Given the description of an element on the screen output the (x, y) to click on. 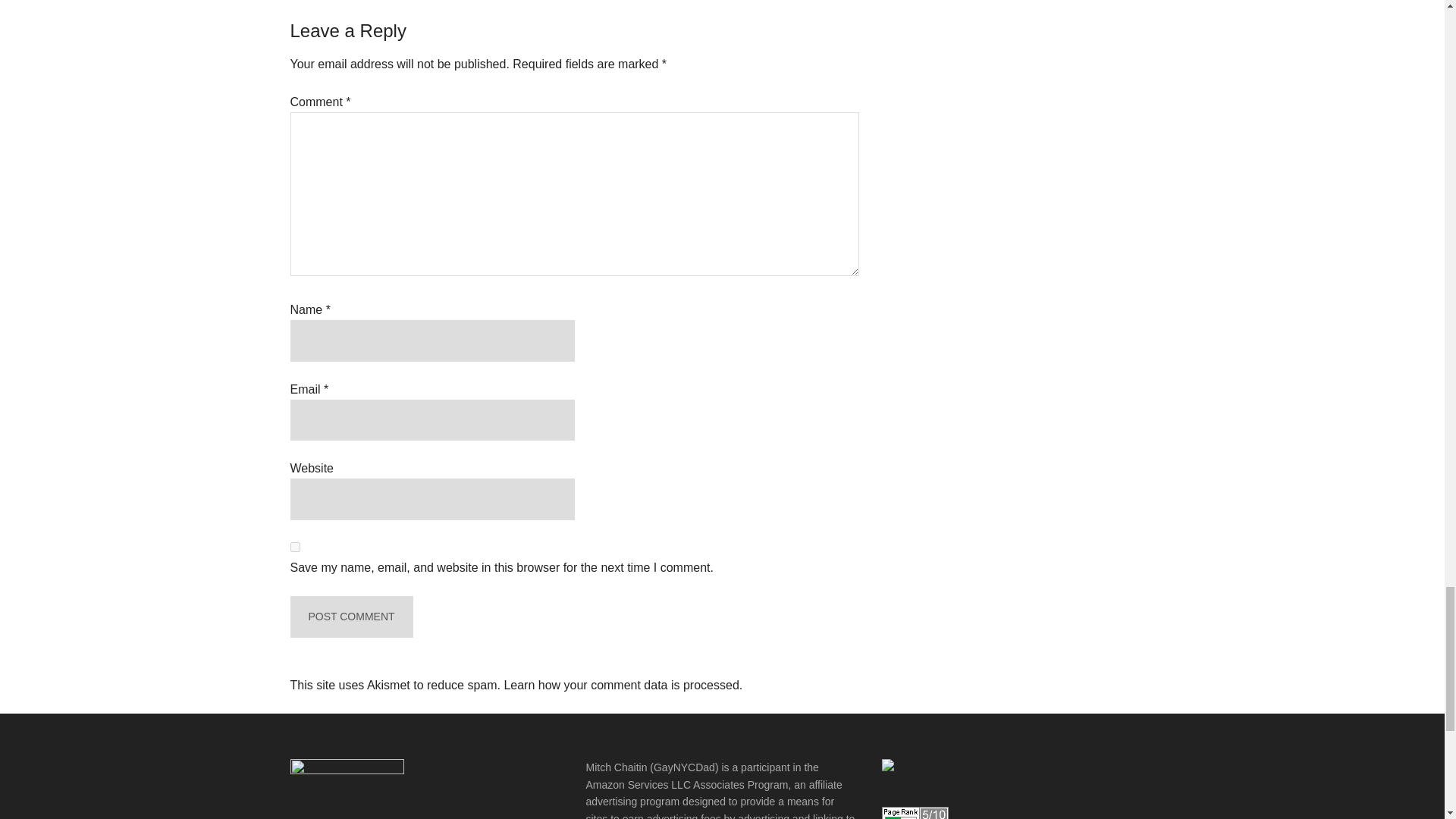
yes (294, 547)
Post Comment (350, 617)
